Given the description of an element on the screen output the (x, y) to click on. 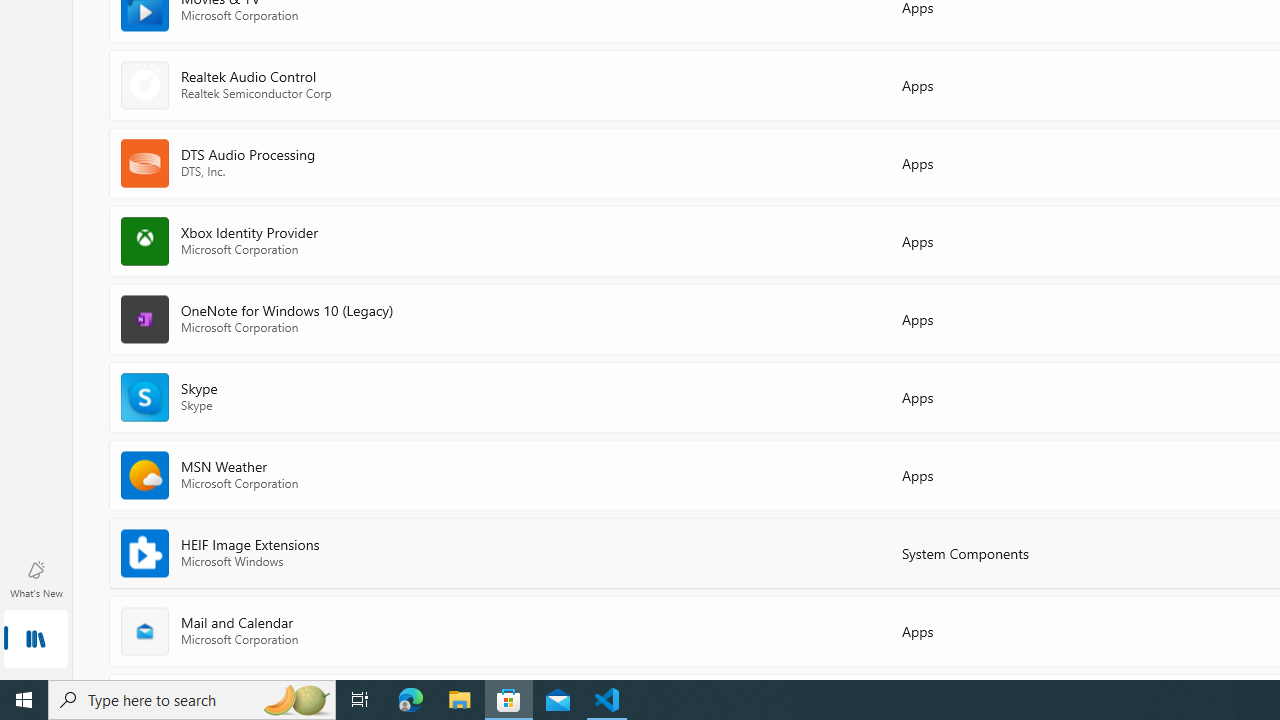
Library (35, 640)
What's New (35, 578)
